Given the description of an element on the screen output the (x, y) to click on. 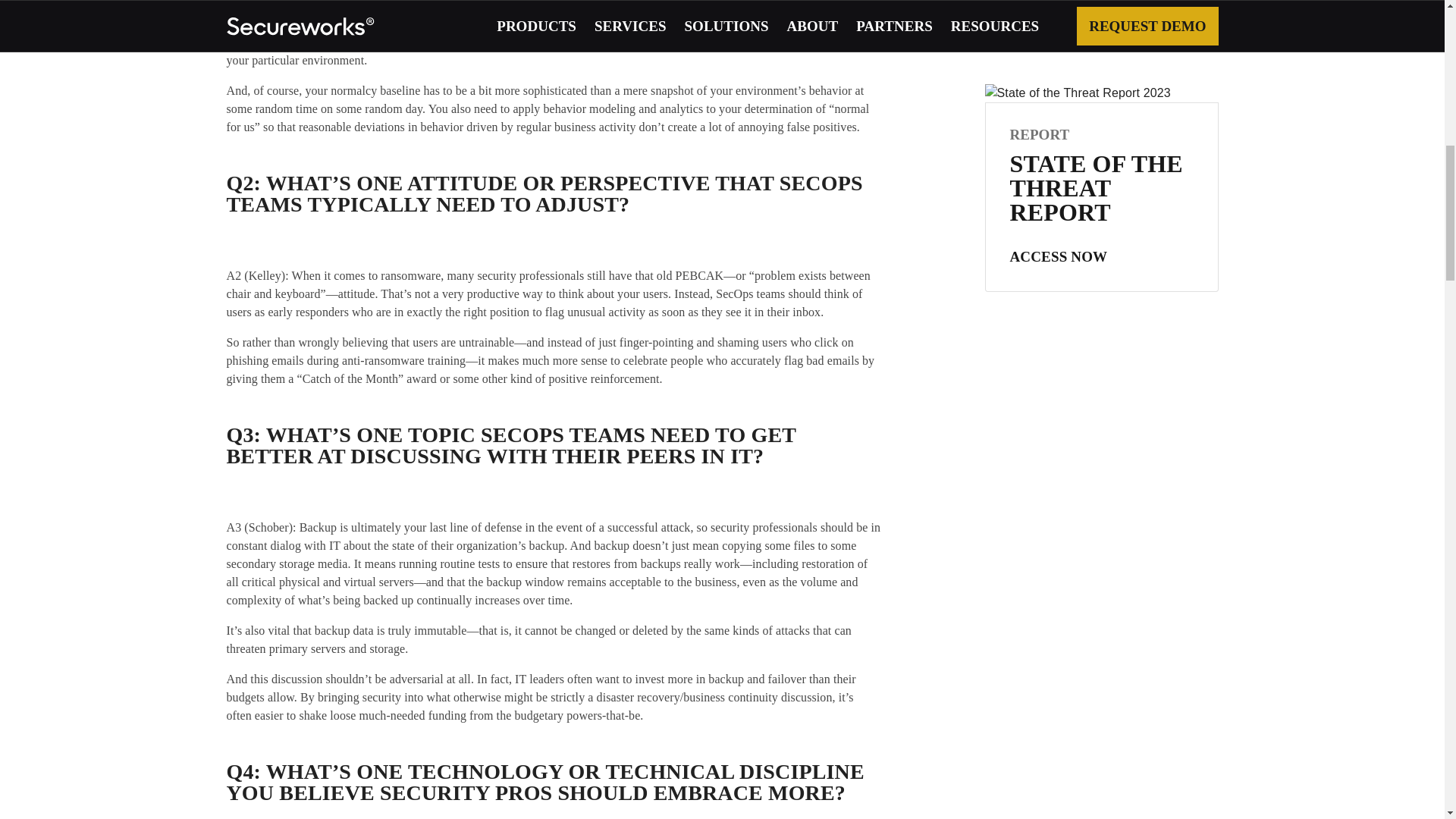
ACCESS NOW (1059, 174)
